Given the description of an element on the screen output the (x, y) to click on. 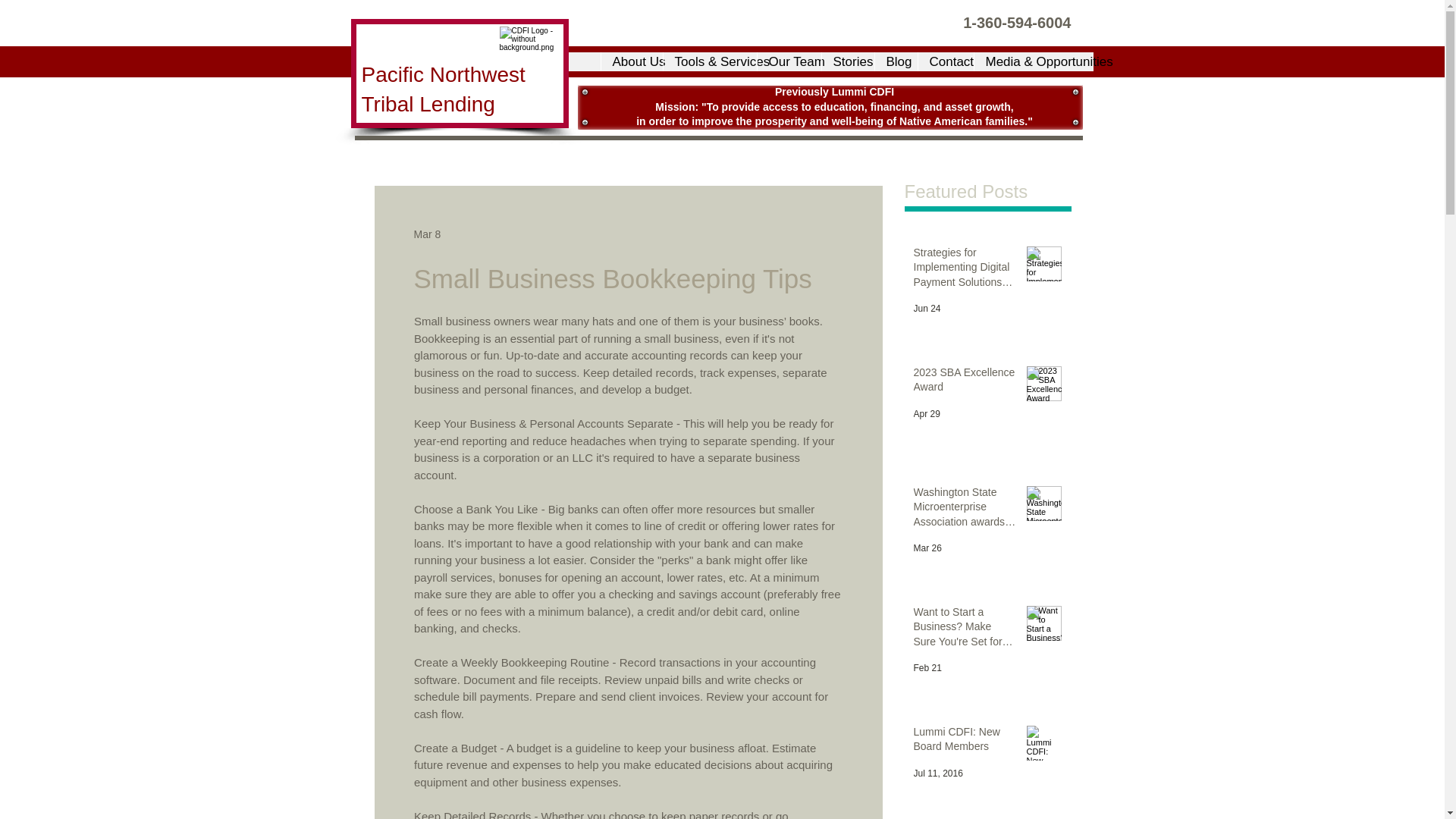
Jul 11, 2016 (937, 773)
Stories (847, 61)
Apr 29 (925, 413)
Lummi CDFI: New Board Members (964, 742)
Feb 21 (926, 667)
Contact (945, 61)
Mar 8 (427, 233)
2023 SBA Excellence Award (964, 383)
Want to Start a Business? Make Sure You're Set for Success (964, 630)
Jun 24 (926, 308)
Blog (895, 61)
Mar 26 (926, 547)
Tribal Lending (428, 104)
About Us (630, 61)
